Given the description of an element on the screen output the (x, y) to click on. 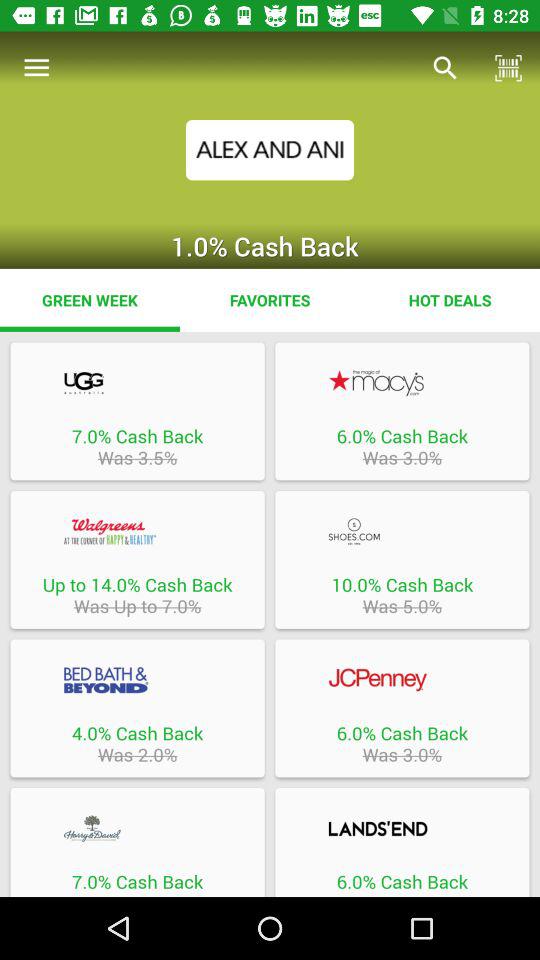
select retailer (402, 382)
